Given the description of an element on the screen output the (x, y) to click on. 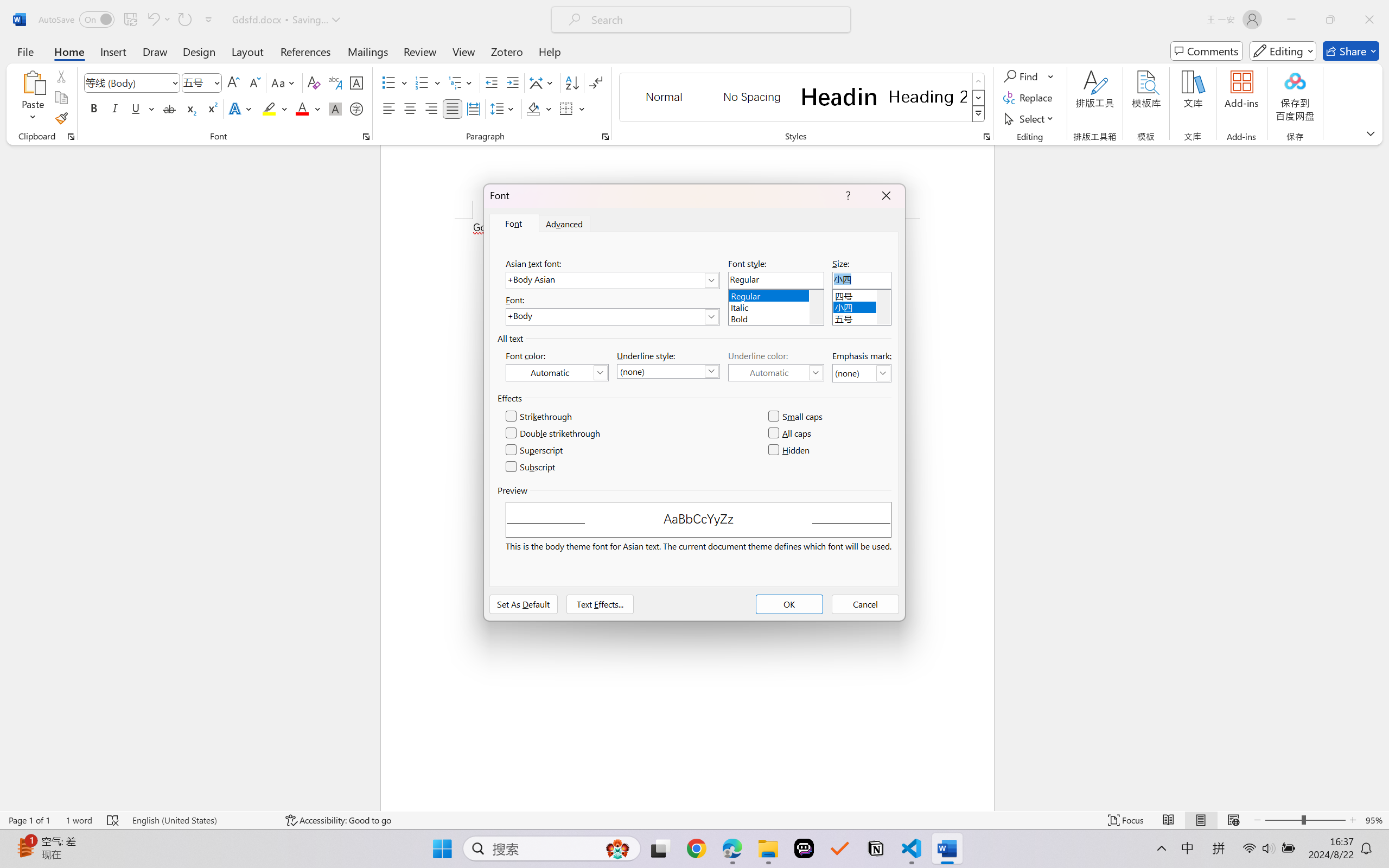
Class: MsoCommandBar (694, 819)
Font style: (775, 280)
Font... (365, 136)
Set As Default (523, 603)
Character Border (356, 82)
Line and Paragraph Spacing (503, 108)
Font Color Red (302, 108)
Bold (94, 108)
